Given the description of an element on the screen output the (x, y) to click on. 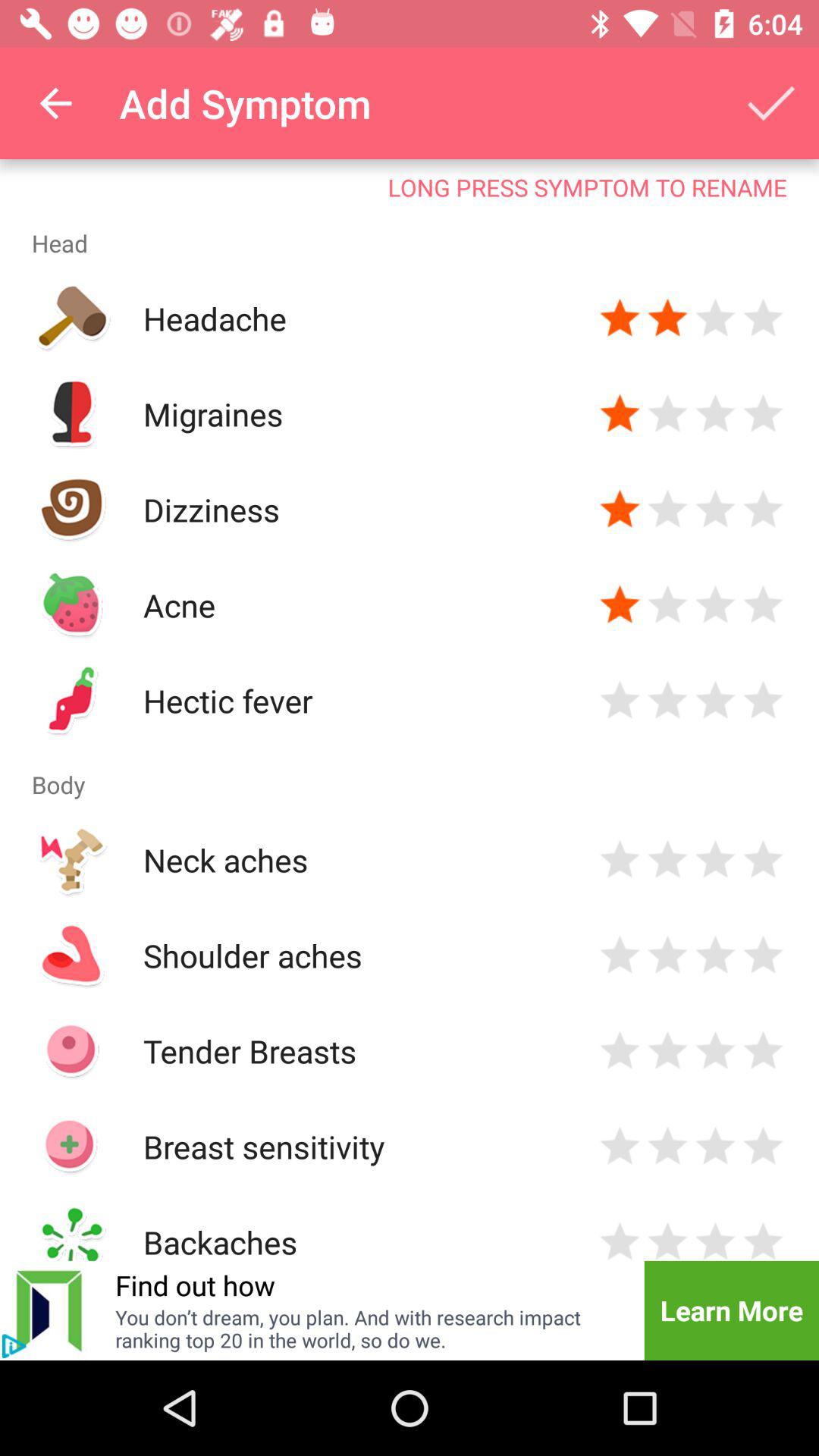
rate severity of symptom (763, 1239)
